Given the description of an element on the screen output the (x, y) to click on. 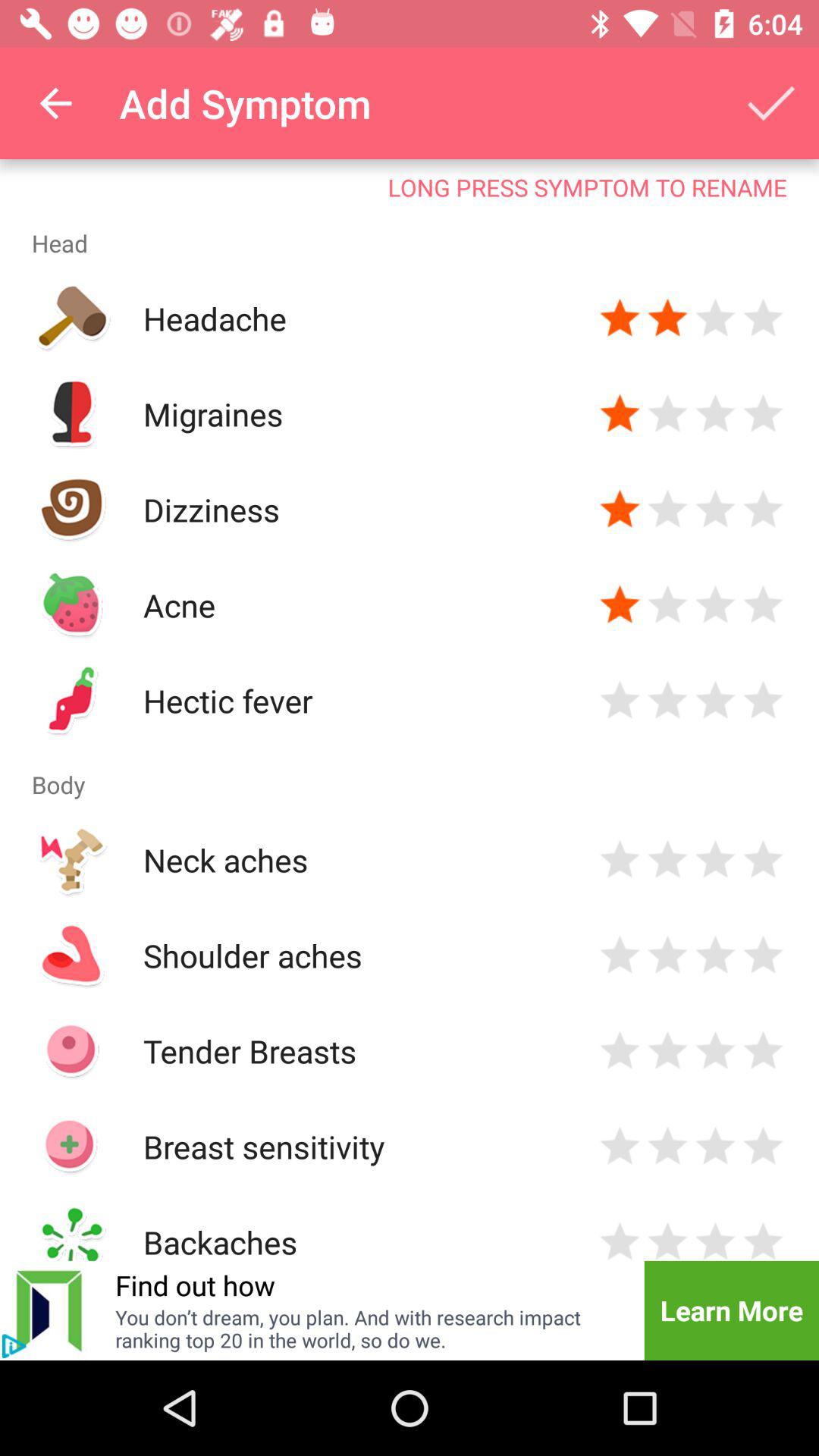
rate severity of symptom (763, 1239)
